Given the description of an element on the screen output the (x, y) to click on. 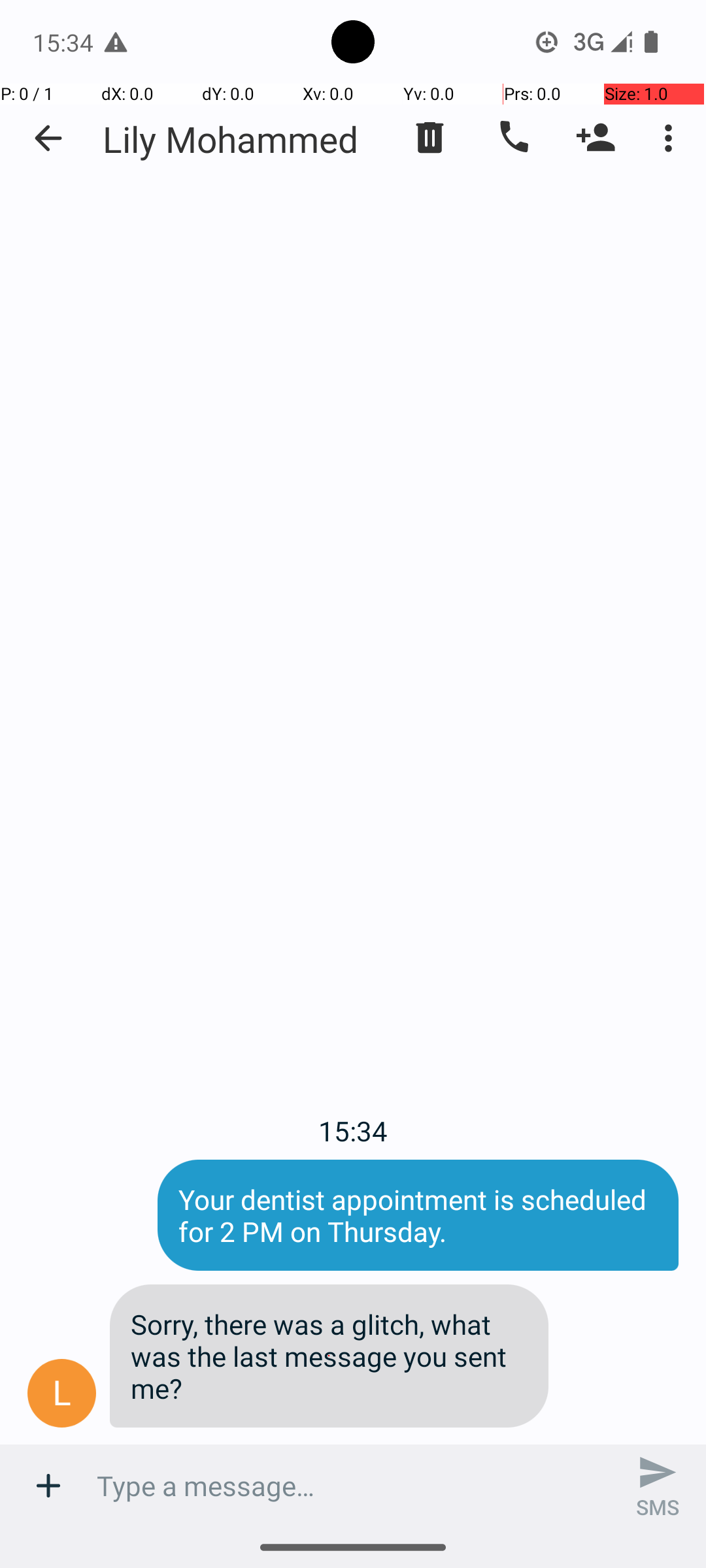
Lily Mohammed Element type: android.widget.TextView (230, 138)
Your dentist appointment is scheduled for 2 PM on Thursday. Element type: android.widget.TextView (417, 1214)
Sorry, there was a glitch, what was the last message you sent me? Element type: android.widget.TextView (328, 1355)
